Given the description of an element on the screen output the (x, y) to click on. 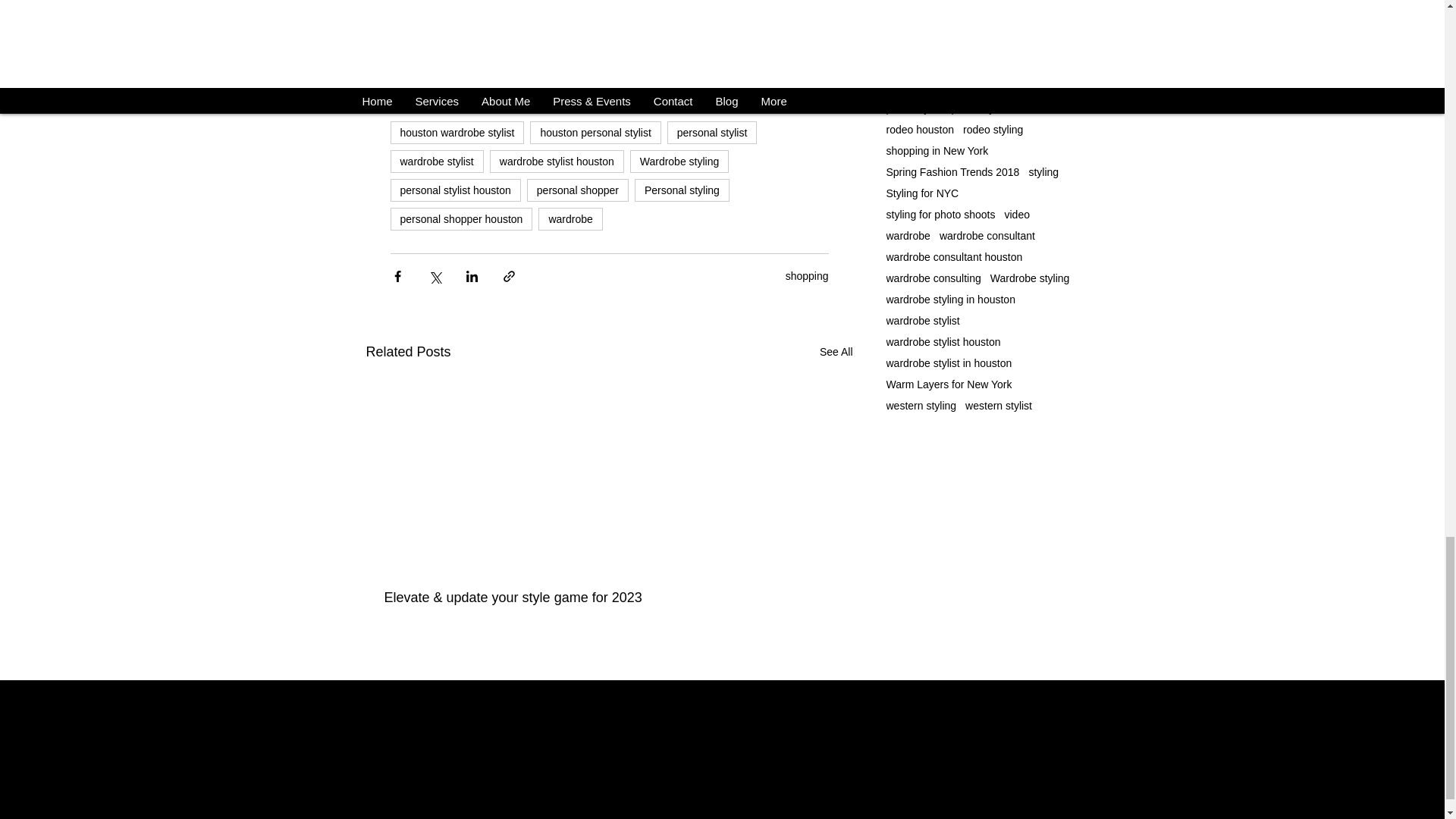
shopping (807, 275)
wardrobe stylist houston (556, 160)
See All (836, 352)
personal stylist houston (454, 190)
wardrobe stylist (436, 160)
houston personal stylist (595, 132)
houston wardrobe stylist (457, 132)
personal shopper (577, 190)
Personal styling (681, 190)
wardrobe (570, 219)
personal stylist (711, 132)
personal shopper houston (461, 219)
Wardrobe styling (679, 160)
